Given the description of an element on the screen output the (x, y) to click on. 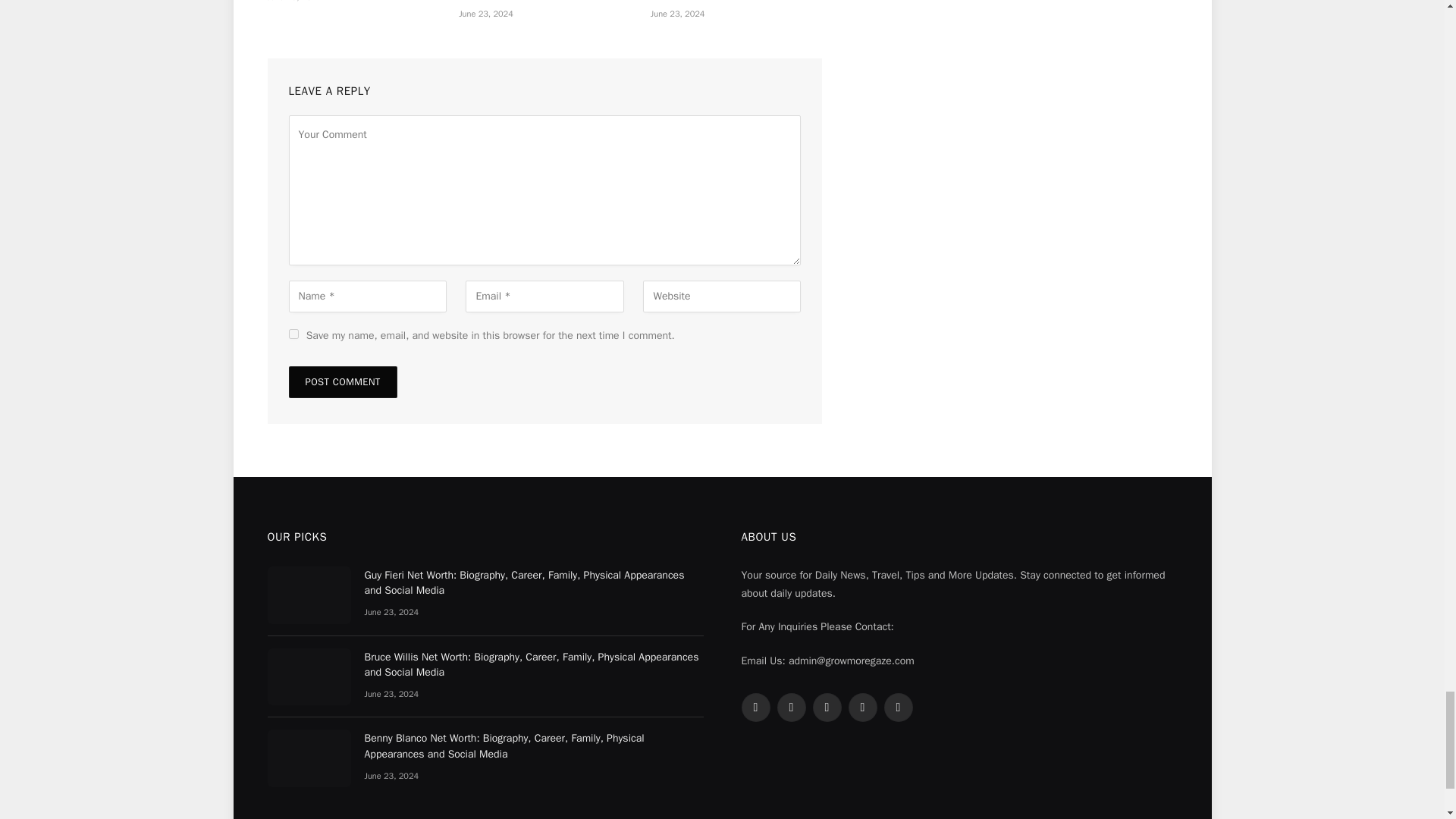
Post Comment (342, 382)
yes (293, 334)
